Given the description of an element on the screen output the (x, y) to click on. 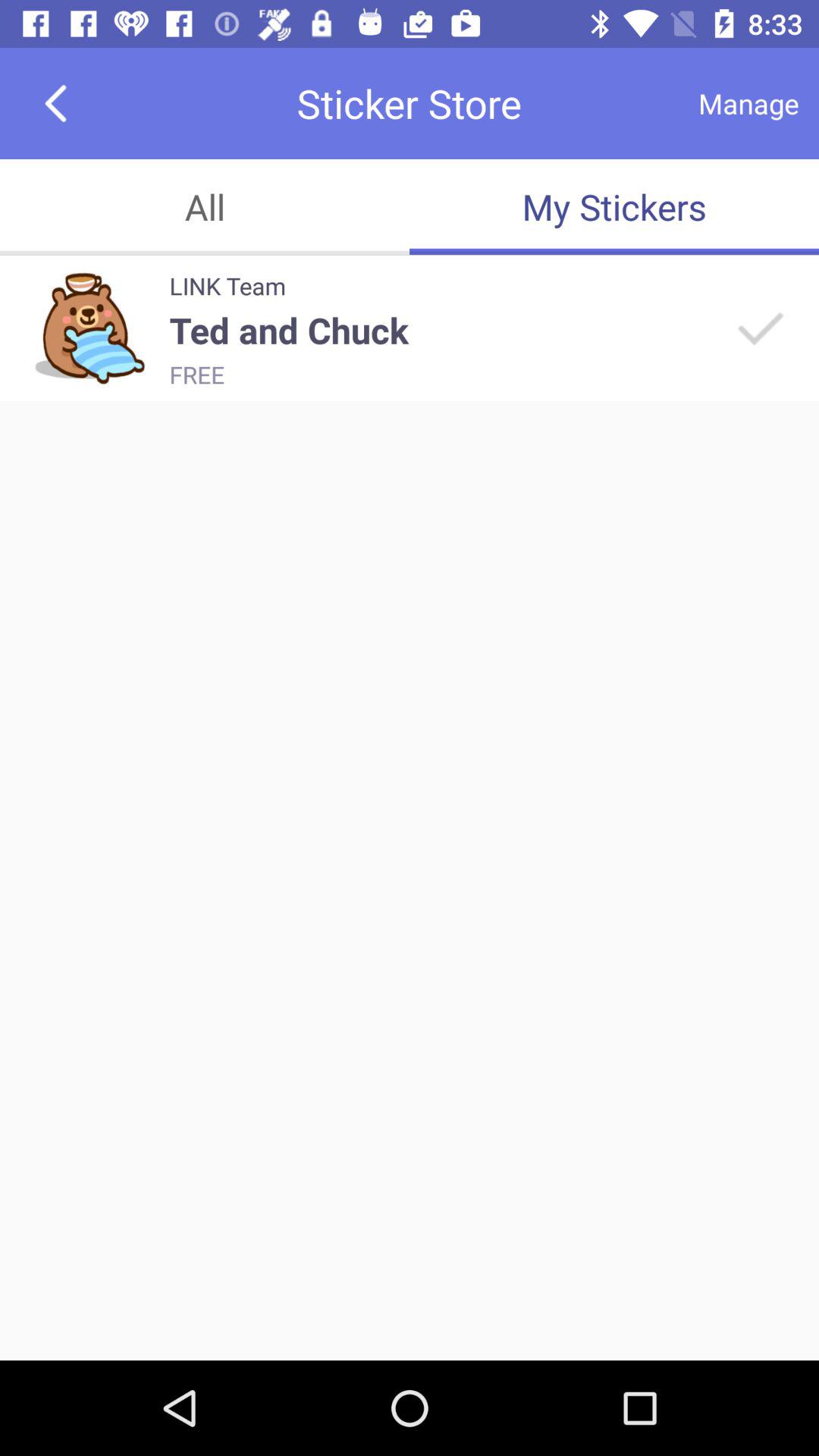
select the manage (748, 103)
